Given the description of an element on the screen output the (x, y) to click on. 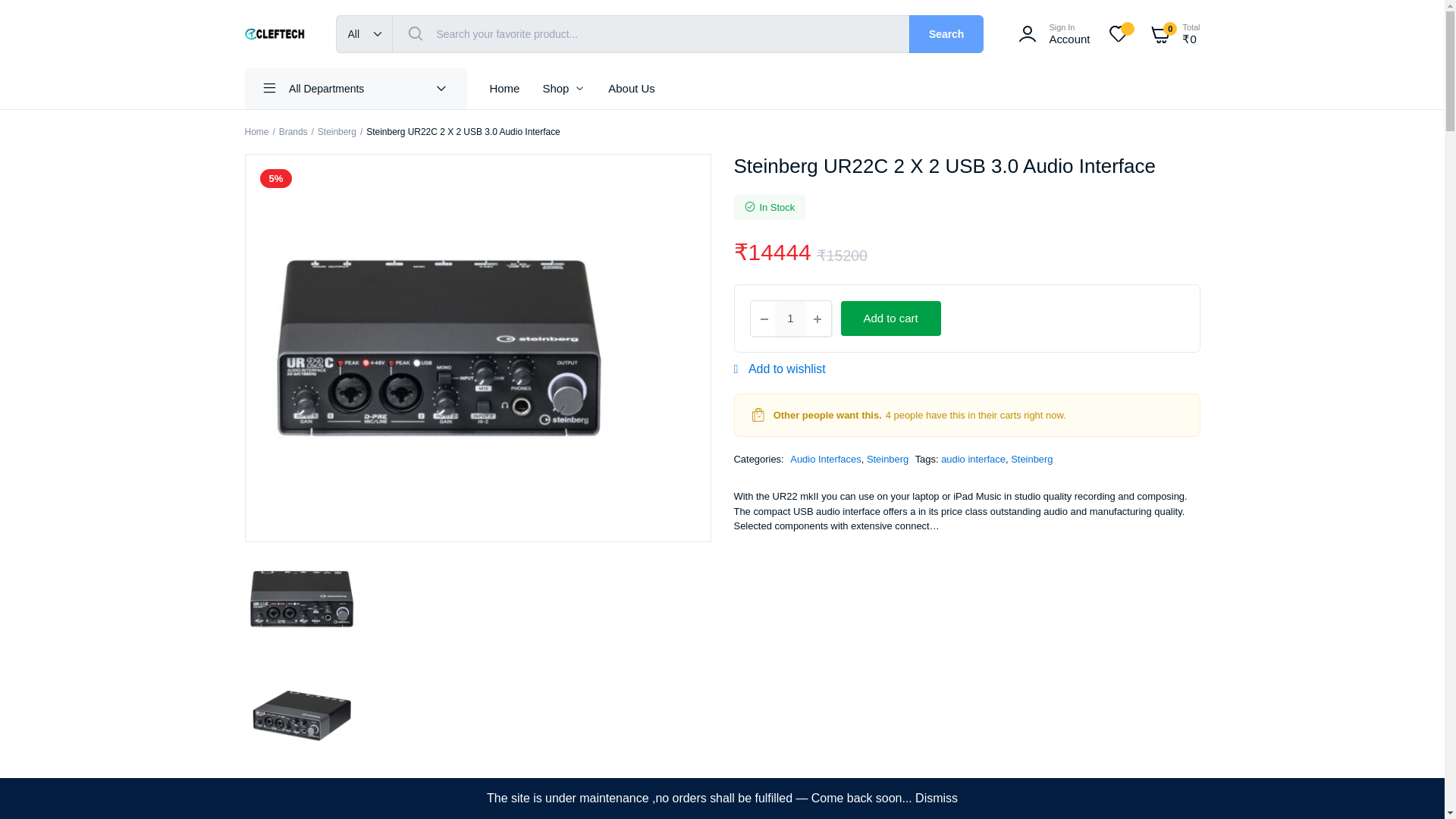
cleftech (274, 33)
Qty (790, 318)
1 (790, 318)
